Given the description of an element on the screen output the (x, y) to click on. 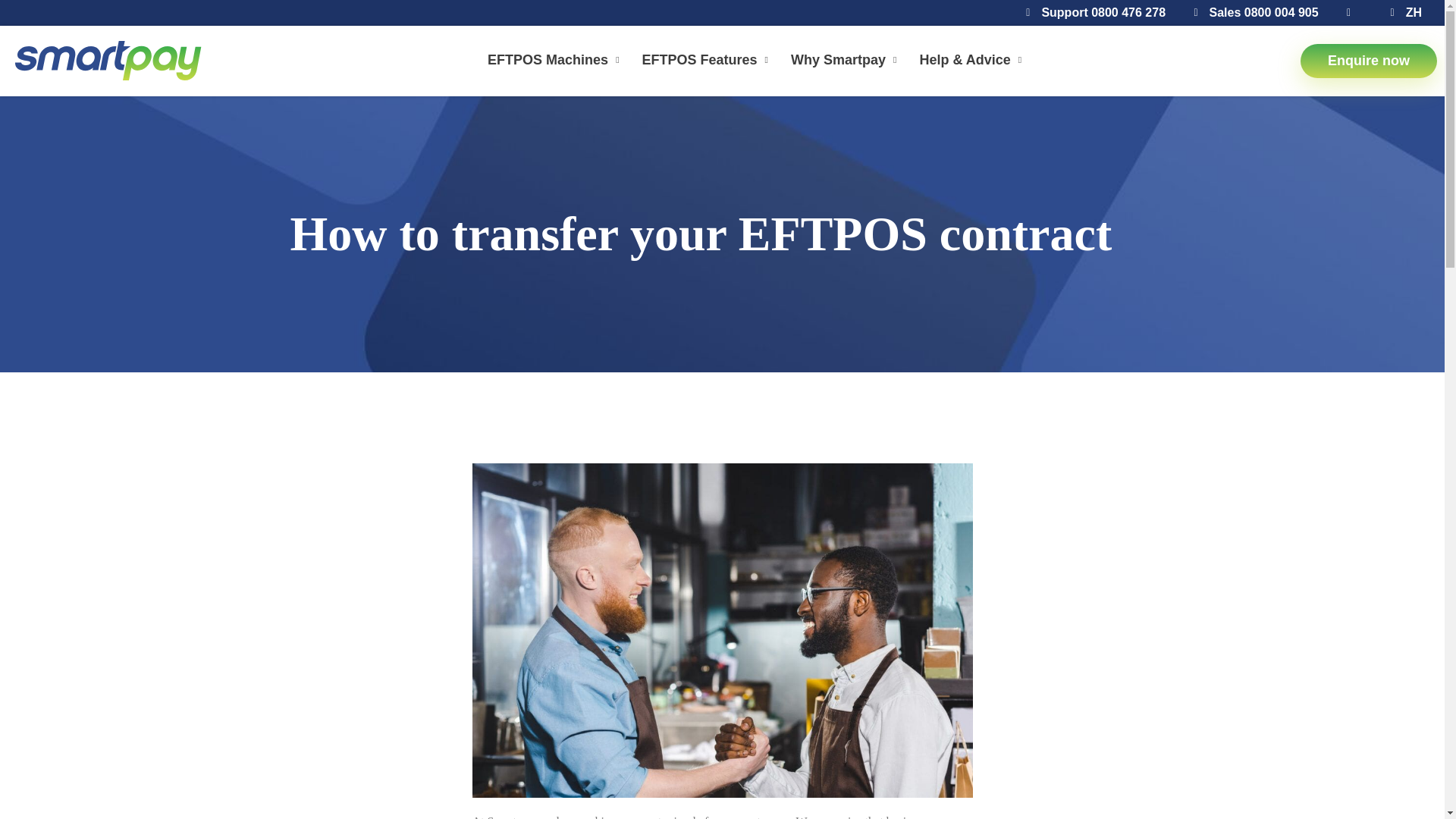
Sales 0800 004 905 (1252, 13)
EFTPOS Features (708, 60)
Why Smartpay (847, 60)
EFTPOS Machines (556, 60)
Support 0800 476 278 (1091, 13)
ZH (1401, 13)
